Given the description of an element on the screen output the (x, y) to click on. 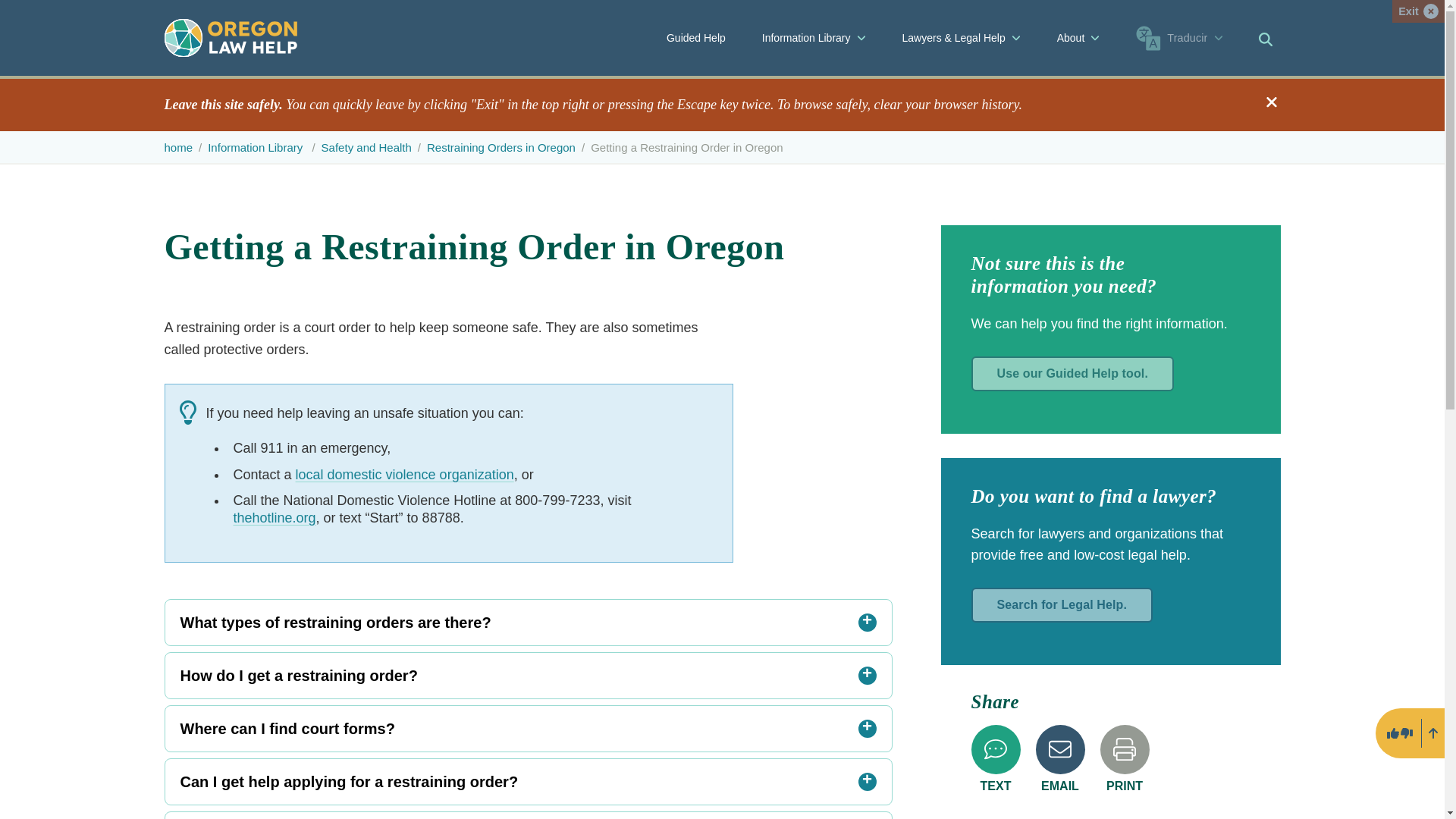
About (1078, 37)
Information Library (813, 38)
Traducir (1178, 37)
Information Library (813, 37)
About (1078, 38)
Guided Help (696, 38)
Oregon Law Help (230, 37)
